Given the description of an element on the screen output the (x, y) to click on. 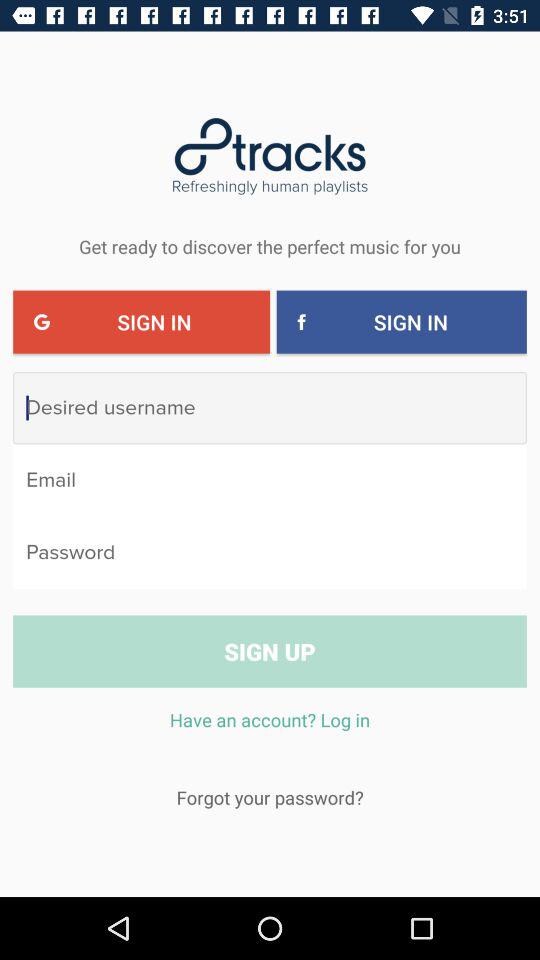
click icon below the have an account icon (269, 797)
